Given the description of an element on the screen output the (x, y) to click on. 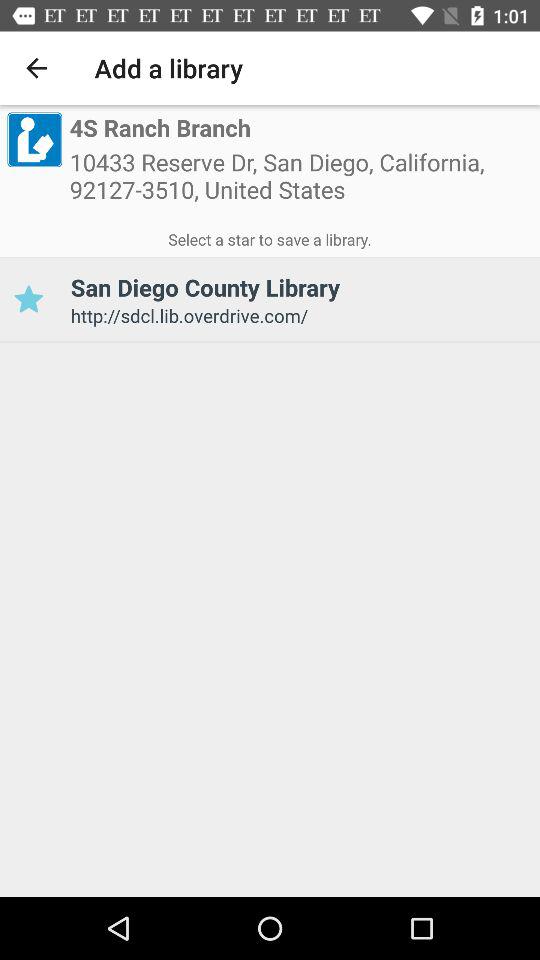
turn on 4s ranch branch icon (159, 128)
